Given the description of an element on the screen output the (x, y) to click on. 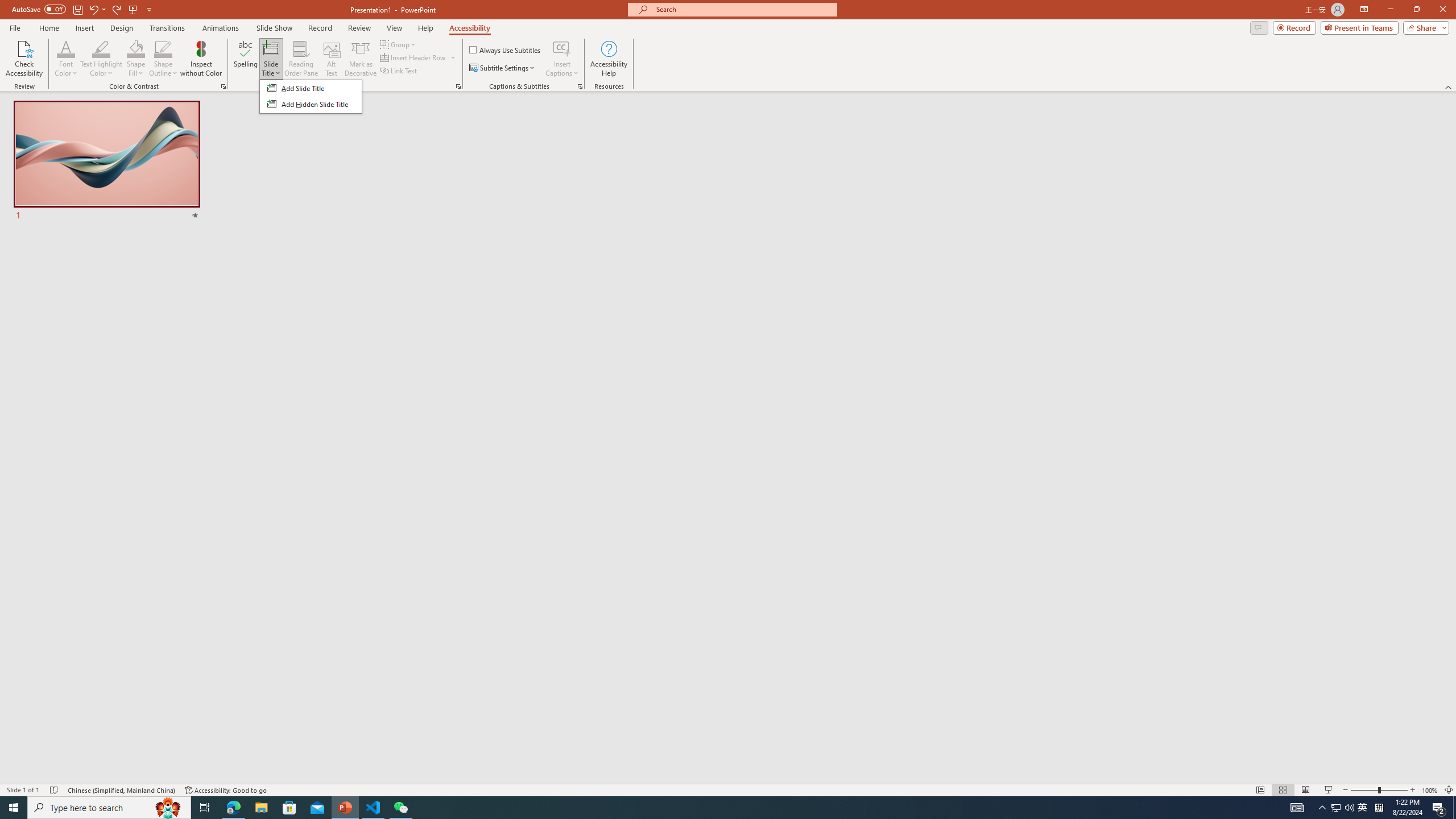
Accessibility Help (608, 58)
Link Text (399, 69)
Screen Reader (458, 85)
